Given the description of an element on the screen output the (x, y) to click on. 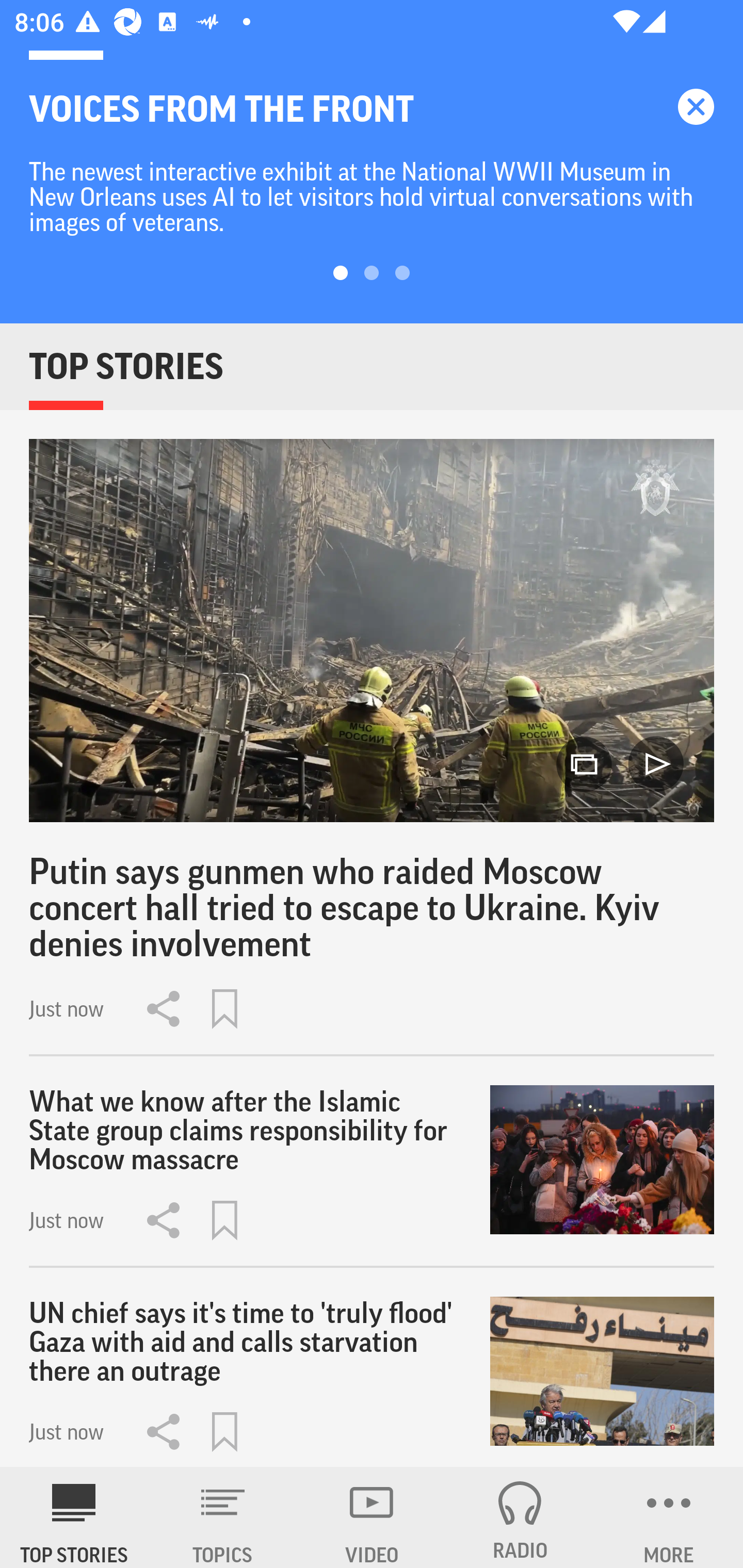
AP News TOP STORIES (74, 1517)
TOPICS (222, 1517)
VIDEO (371, 1517)
RADIO (519, 1517)
MORE (668, 1517)
